Given the description of an element on the screen output the (x, y) to click on. 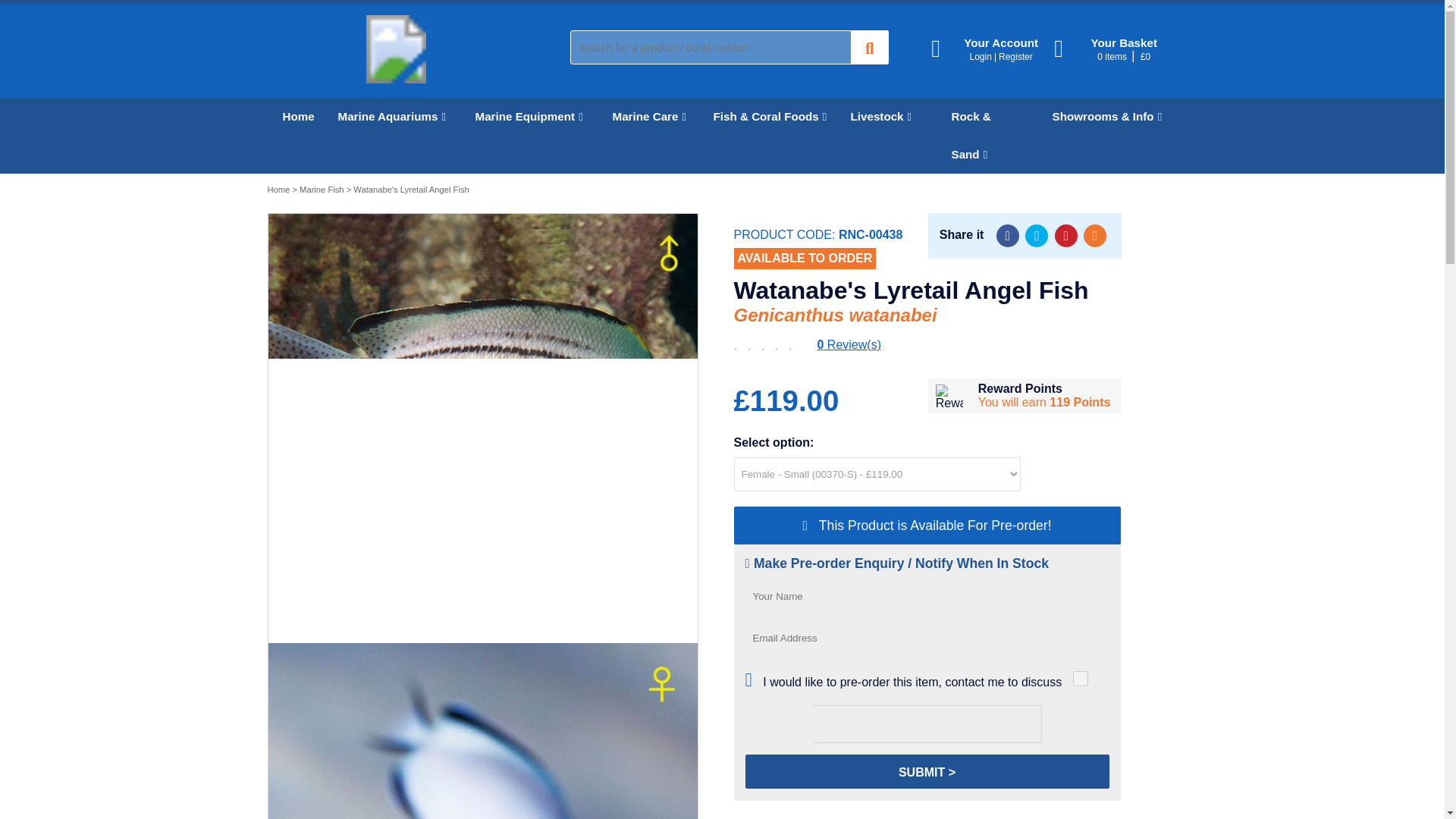
Login (980, 56)
Rock'N'Critters (395, 78)
Marine Aquariums (391, 116)
Marine Equipment (527, 116)
Marine Aquariums (391, 116)
Home (293, 116)
Home (293, 116)
Account (992, 49)
true (1080, 678)
Register (1015, 56)
